Given the description of an element on the screen output the (x, y) to click on. 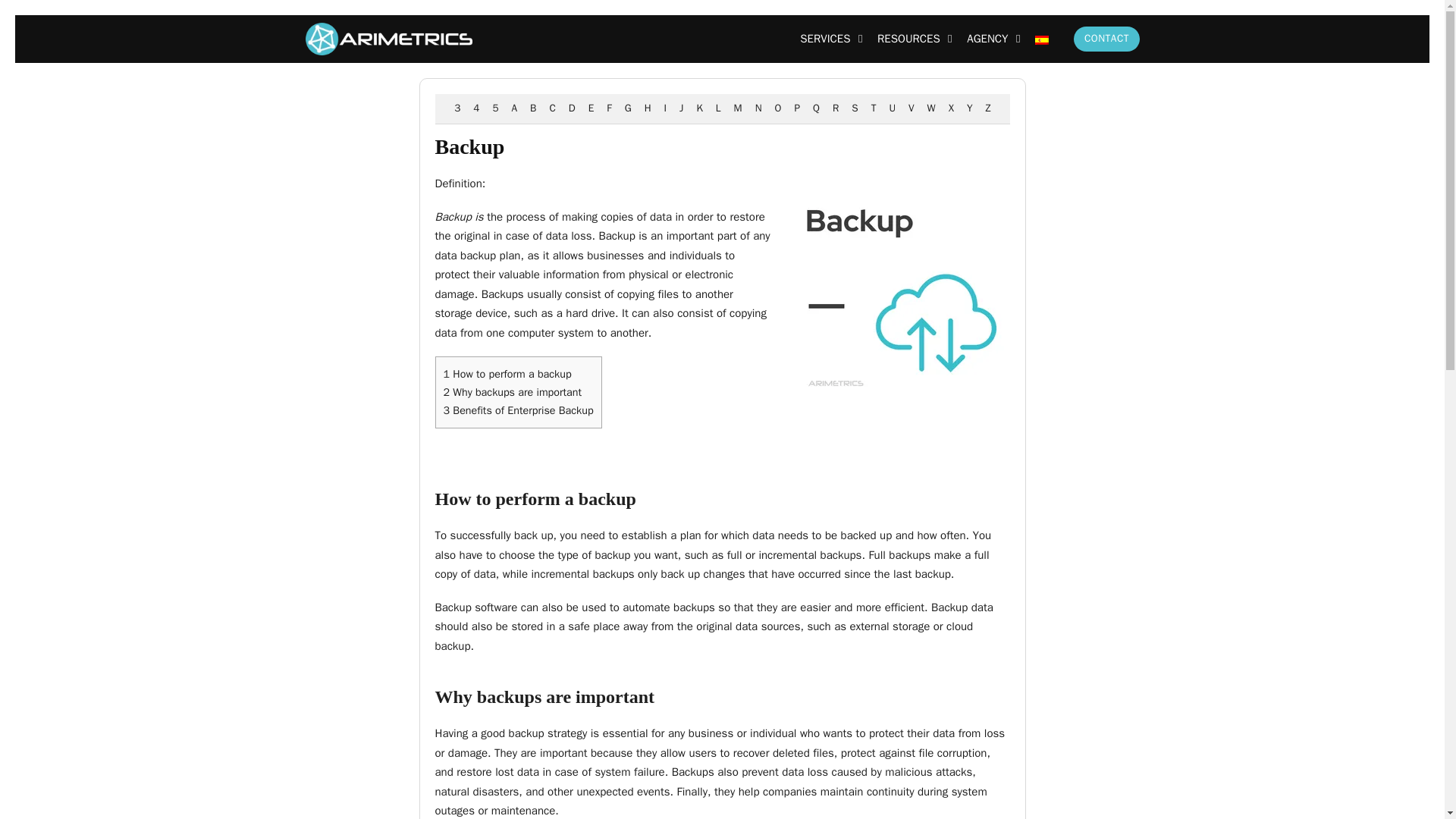
AGENCY (986, 39)
RESOURCES (908, 39)
CONTACT (1106, 38)
SERVICES (824, 39)
